Given the description of an element on the screen output the (x, y) to click on. 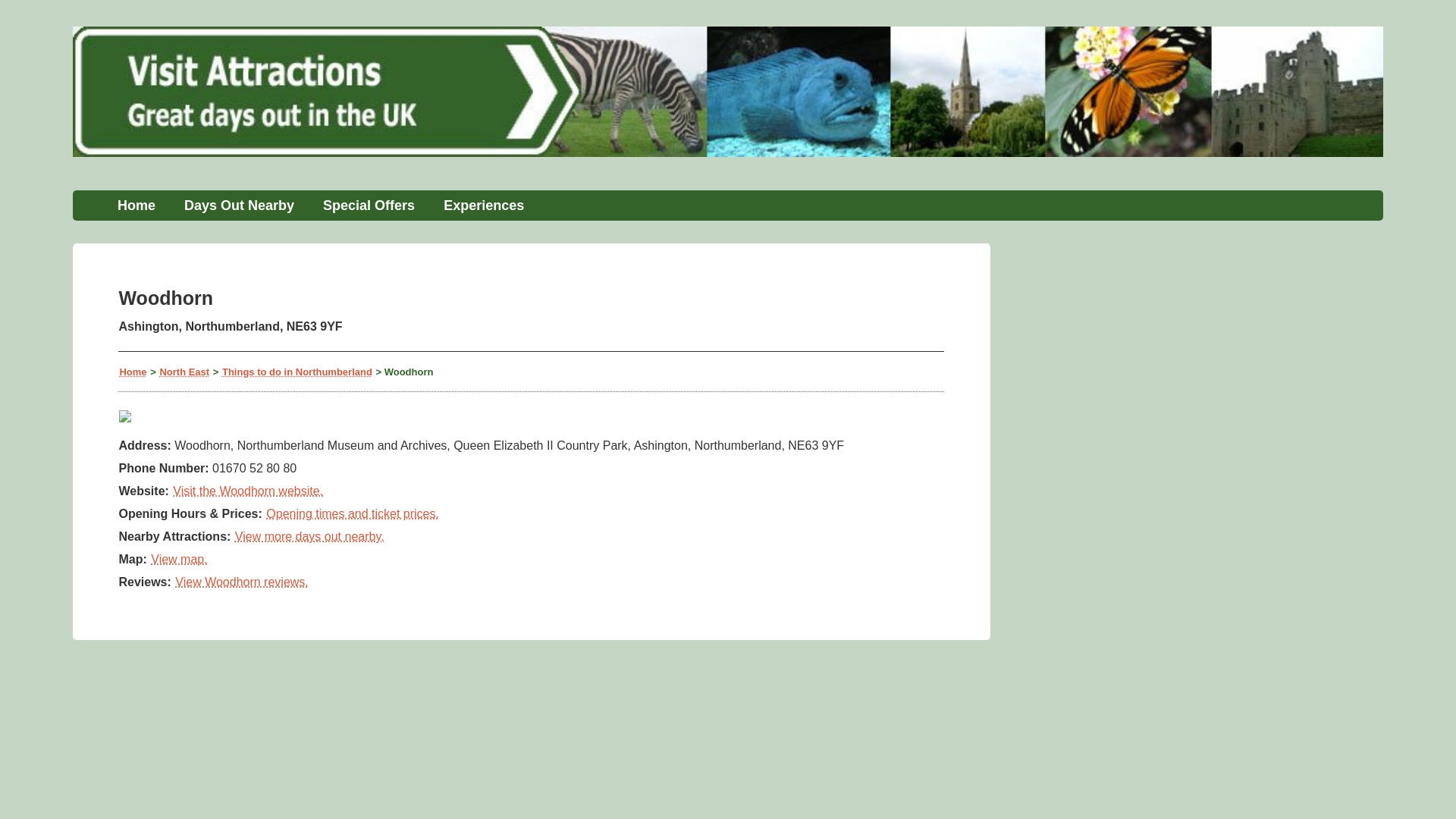
Special Offers (368, 205)
View map. (178, 558)
View Woodhorn reviews. (241, 581)
Things to do in Northumberland (296, 371)
Visit the Woodhorn website. (247, 490)
Home (136, 205)
Home (132, 371)
Opening times and ticket prices. (351, 513)
Experiences (483, 205)
View more days out nearby. (309, 535)
